Given the description of an element on the screen output the (x, y) to click on. 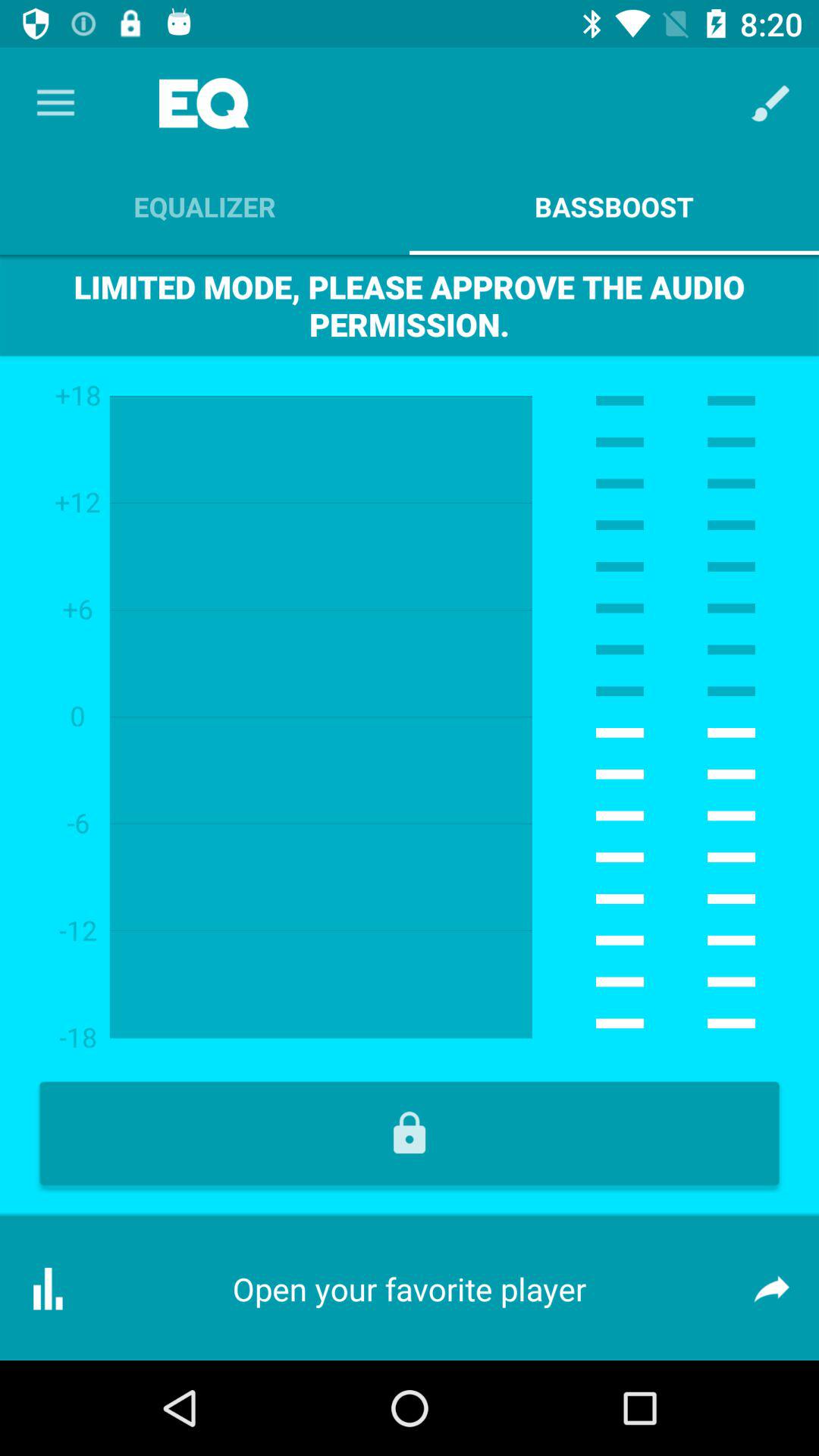
open the player (409, 1133)
